Given the description of an element on the screen output the (x, y) to click on. 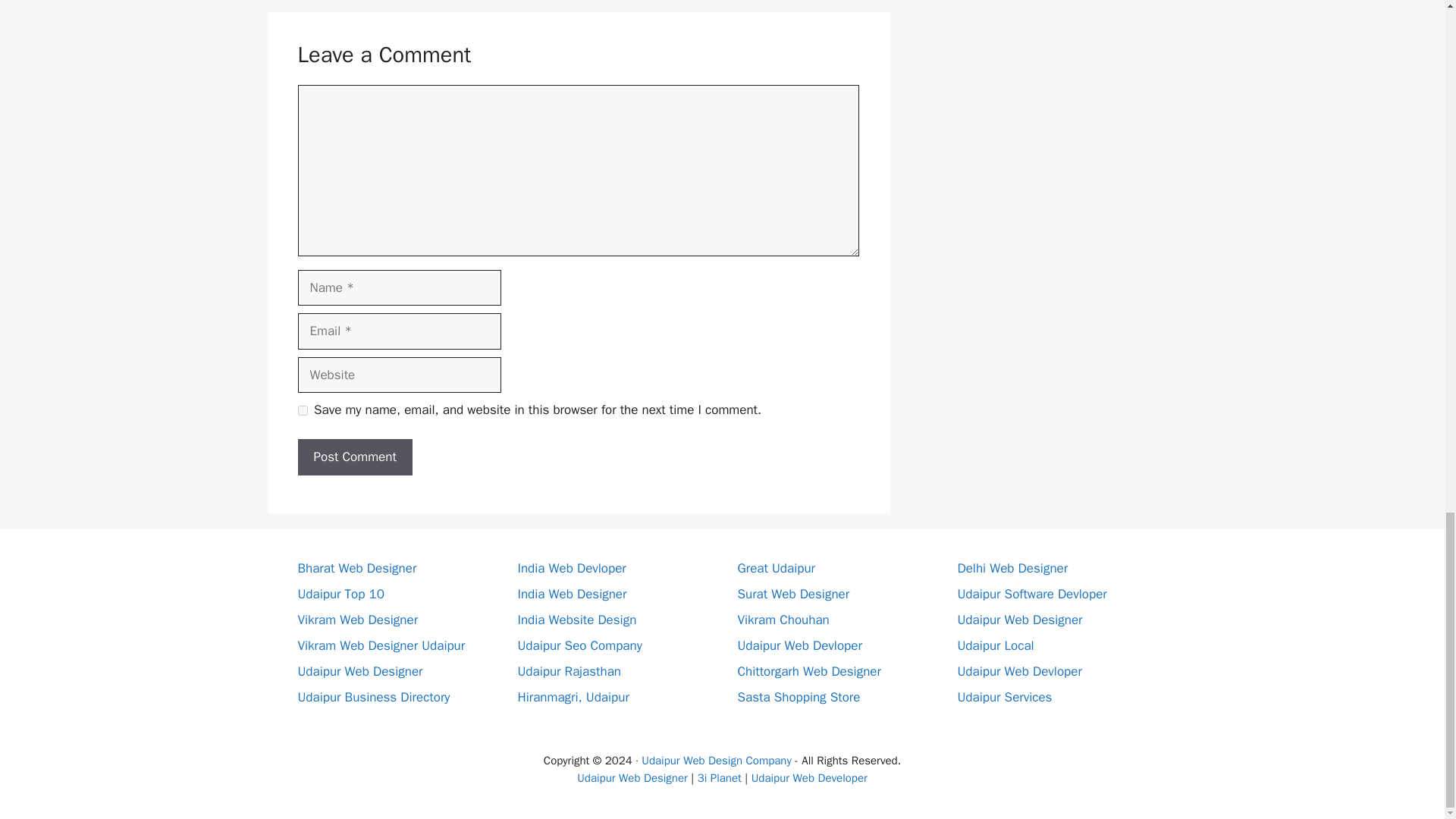
Udaipur Top 10 (340, 593)
Post Comment (354, 456)
Vikram Web Designer Udaipur (380, 645)
Post Comment (354, 456)
yes (302, 410)
Scroll back to top (1406, 147)
Bharat Web Designer (356, 568)
Web Design Company Udaipur (719, 777)
Vikram Web Designer (357, 619)
